Given the description of an element on the screen output the (x, y) to click on. 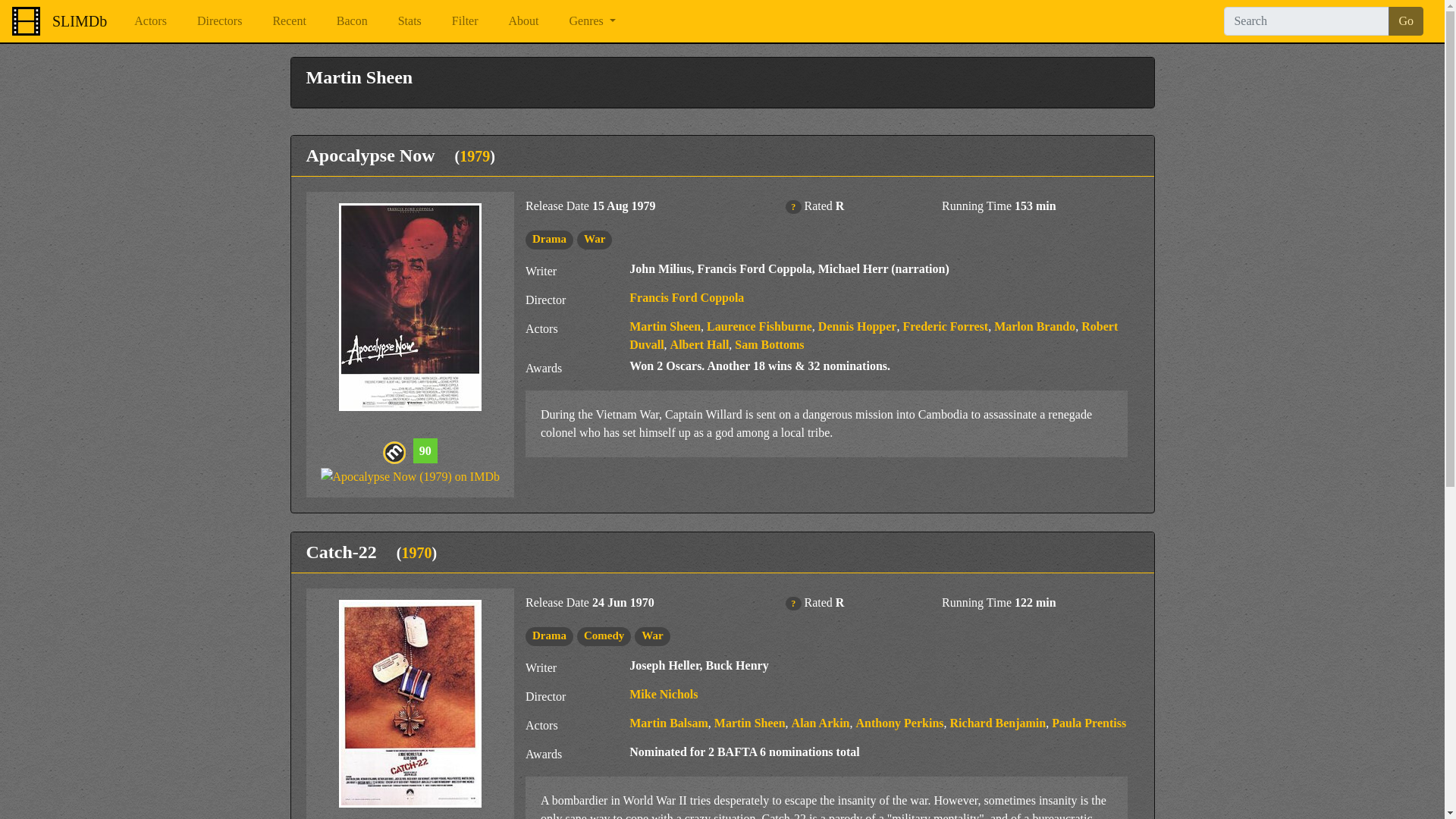
Go (1406, 21)
Filter (464, 20)
Bacon (352, 20)
Stats (409, 20)
Francis Ford Coppola (686, 297)
Recent (288, 20)
Martin Sheen (664, 326)
Drama (549, 238)
War (594, 238)
Directors (219, 20)
Actors (150, 20)
Genres (592, 20)
About (523, 20)
1979 (474, 156)
SLIMDb (79, 20)
